Given the description of an element on the screen output the (x, y) to click on. 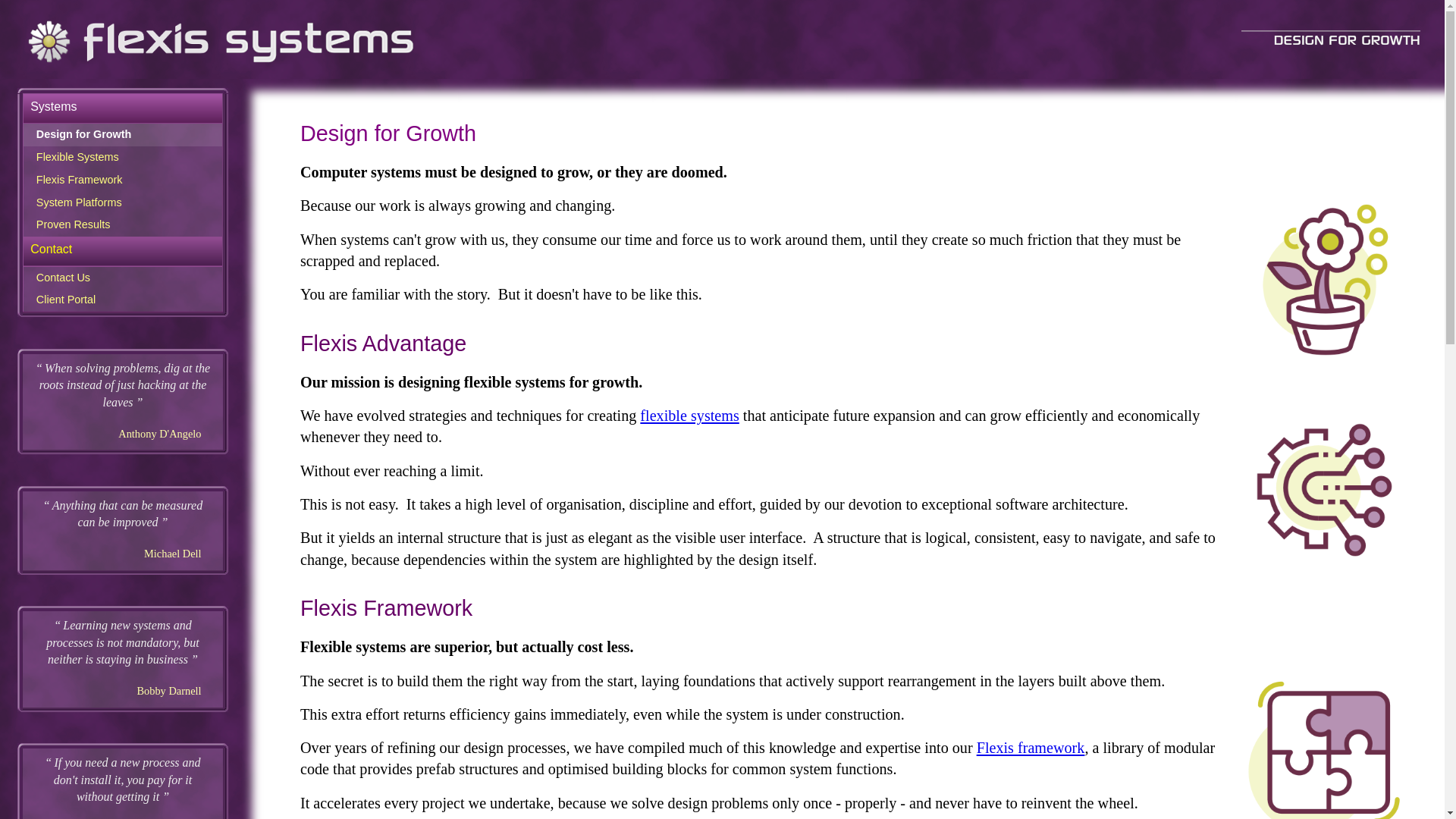
Contact Us Element type: text (122, 277)
Flexis framework Element type: text (1030, 747)
Flexible Systems Element type: text (122, 157)
Client Portal Element type: text (122, 300)
Design for Growth Element type: text (122, 134)
Flexis Framework Element type: text (122, 180)
Flexis Framework Element type: text (386, 608)
Proven Results Element type: text (122, 225)
Contact Element type: text (122, 249)
Systems Element type: text (122, 106)
Flexis Advantage Element type: text (383, 343)
System Platforms Element type: text (122, 202)
flexible systems Element type: text (689, 415)
